Given the description of an element on the screen output the (x, y) to click on. 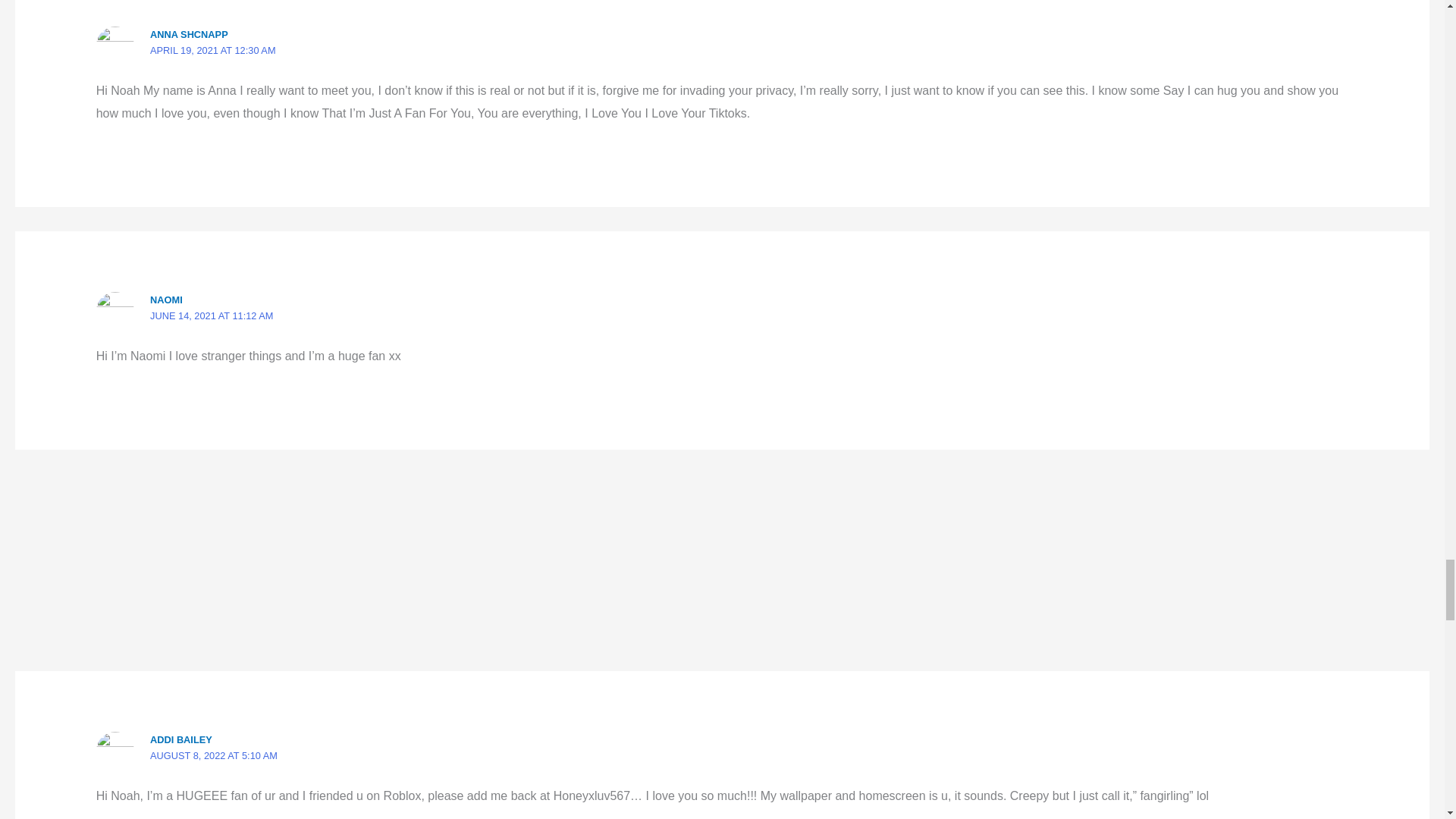
AUGUST 8, 2022 AT 5:10 AM (213, 755)
JUNE 14, 2021 AT 11:12 AM (211, 315)
APRIL 19, 2021 AT 12:30 AM (212, 50)
